Given the description of an element on the screen output the (x, y) to click on. 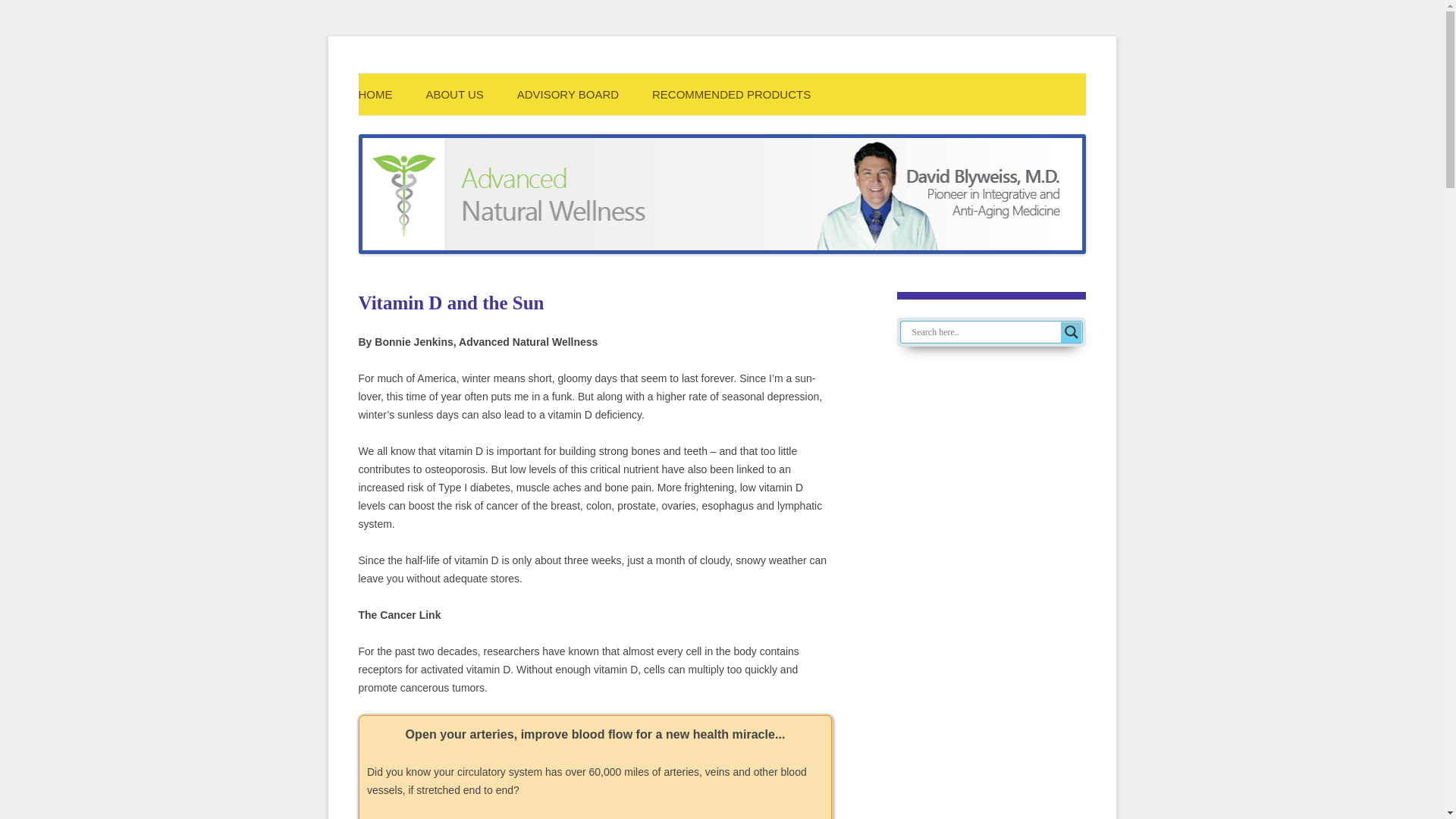
ADVISORY BOARD (568, 94)
ABOUT US (454, 94)
Advanced Natural Wellness (604, 92)
RECOMMENDED PRODUCTS (731, 94)
